Given the description of an element on the screen output the (x, y) to click on. 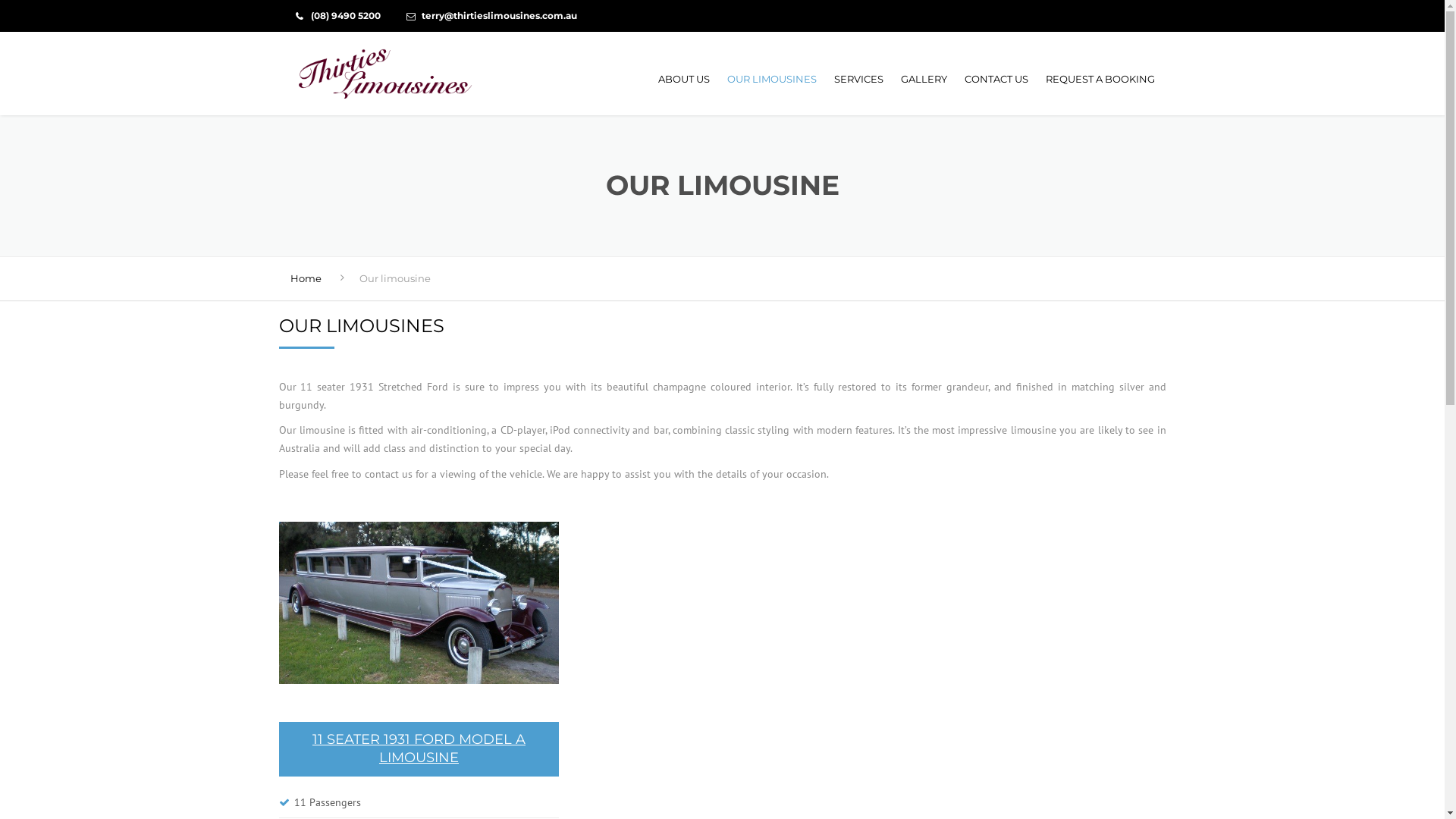
Home Element type: text (304, 278)
OUR LIMOUSINES Element type: text (770, 78)
ABOUT US Element type: text (683, 78)
11 SEATER 1931 FORD MODEL A LIMOUSINE Element type: text (419, 748)
(08) 9490 5200 Element type: text (345, 15)
CONTACT US Element type: text (996, 78)
GALLERY Element type: text (923, 78)
REQUEST A BOOKING Element type: text (1095, 78)
terry@thirtieslimousines.com.au Element type: text (499, 15)
SERVICES Element type: text (858, 78)
